Given the description of an element on the screen output the (x, y) to click on. 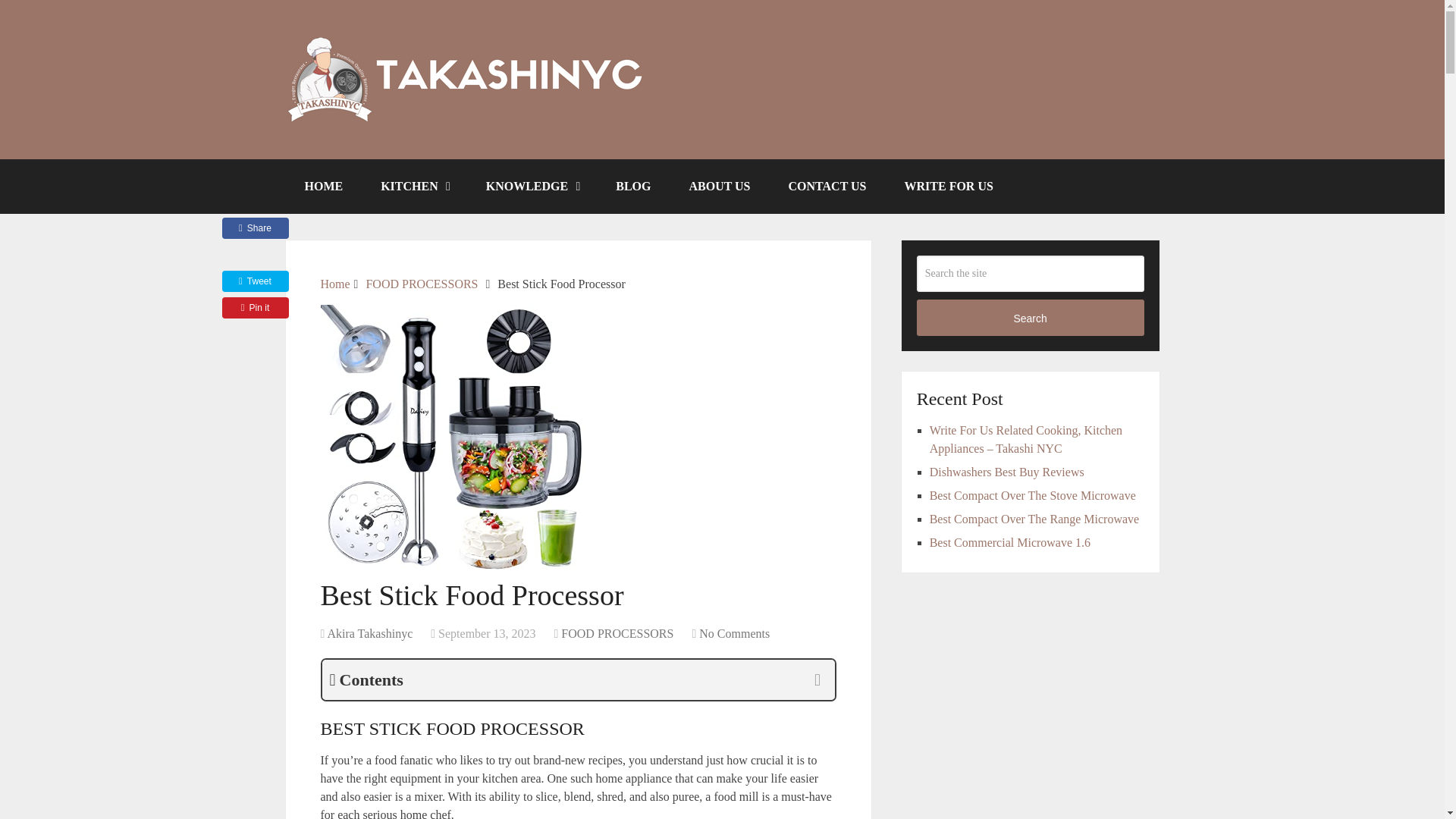
WRITE FOR US (948, 185)
BLOG (632, 185)
FOOD PROCESSORS (421, 283)
Posts by Akira Takashinyc (369, 633)
Akira Takashinyc (369, 633)
KITCHEN (414, 185)
ABOUT US (718, 185)
Home (334, 283)
No Comments (734, 633)
HOME (323, 185)
